Given the description of an element on the screen output the (x, y) to click on. 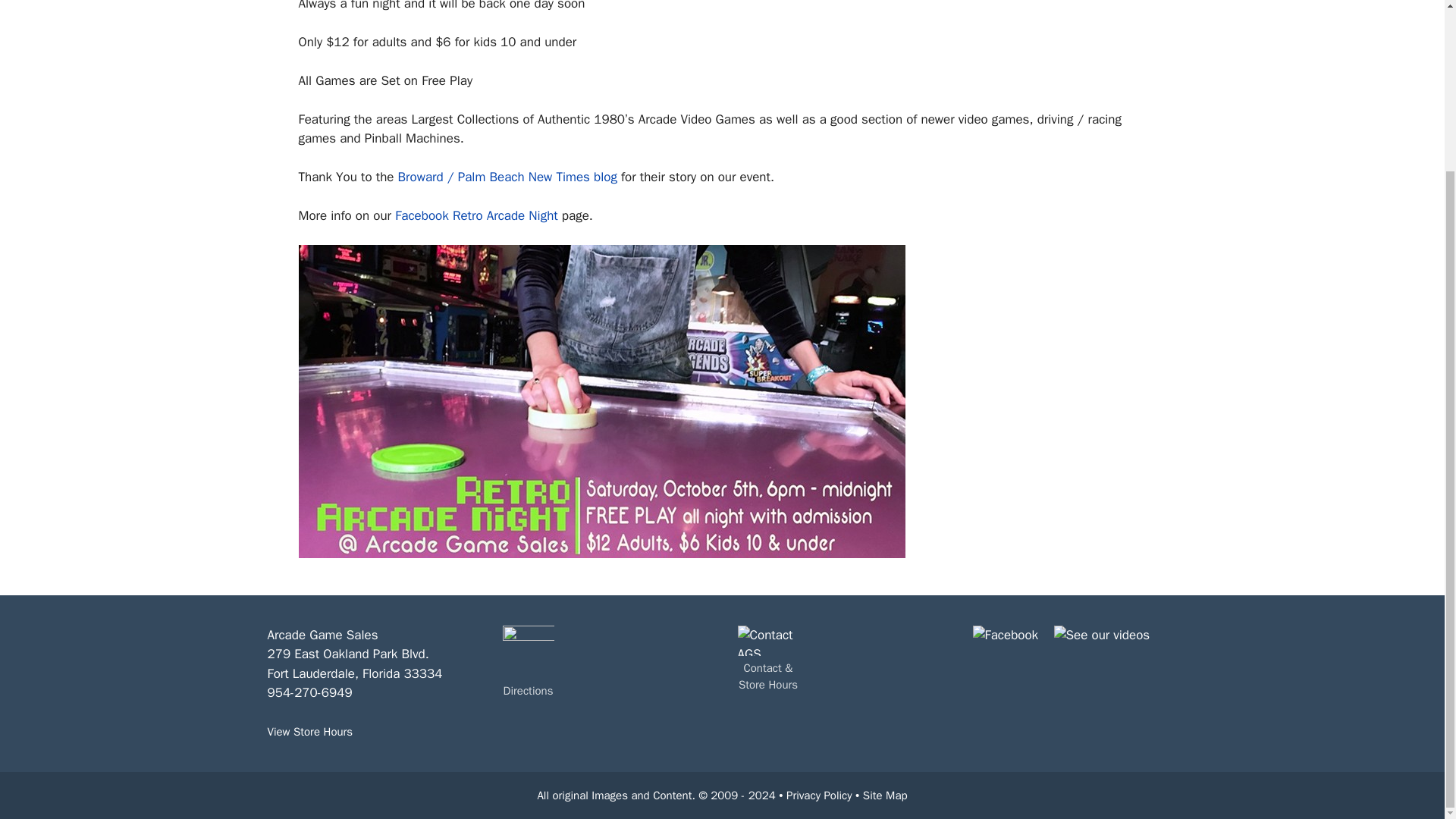
View Store Hours (309, 731)
Directions (528, 691)
Facebook Retro Arcade Night (475, 215)
